Given the description of an element on the screen output the (x, y) to click on. 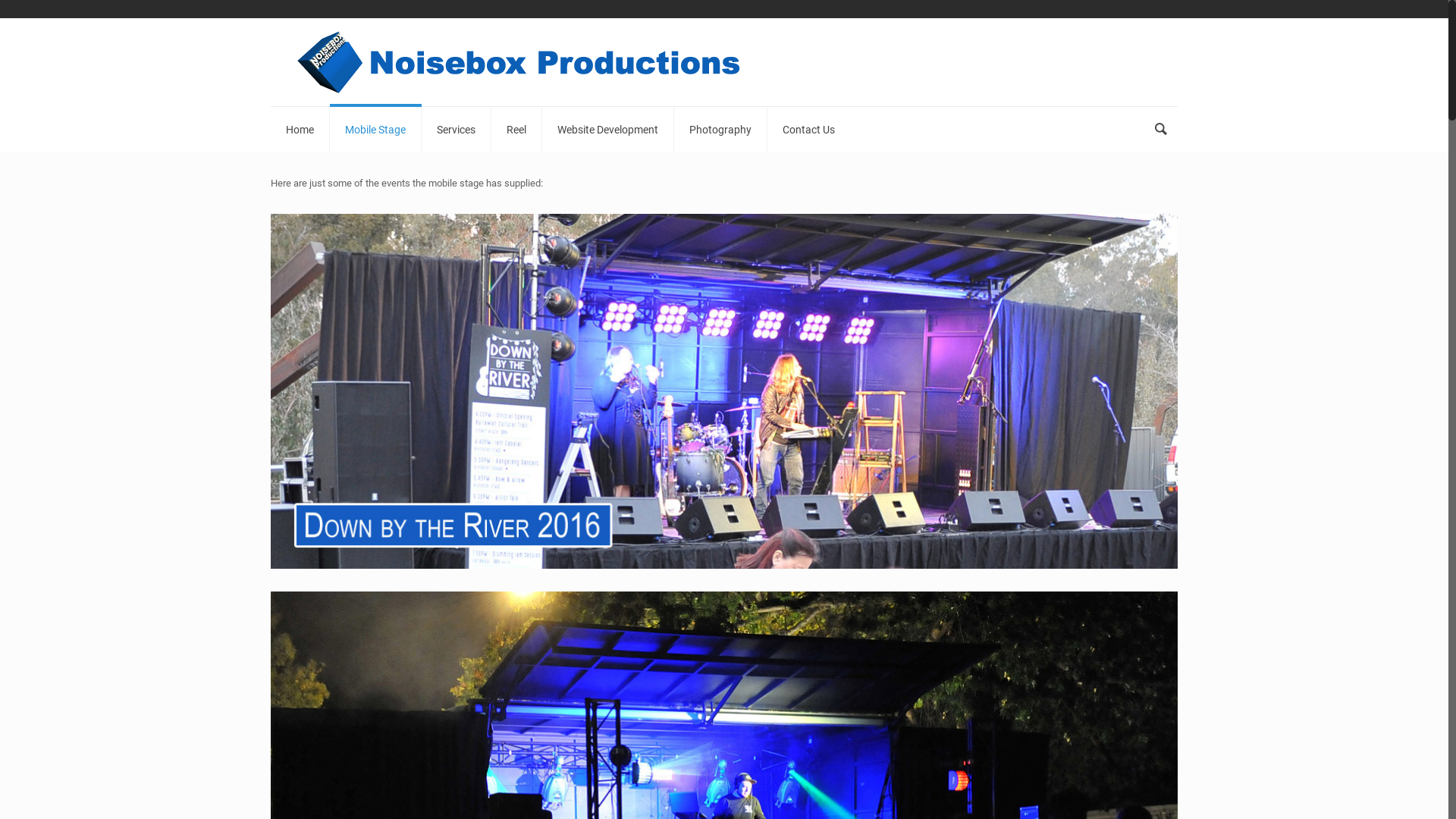
Photography Element type: text (720, 129)
Website Development Element type: text (608, 129)
Reel Element type: text (516, 129)
Services Element type: text (456, 129)
Mobile Stage Element type: text (375, 129)
Contact Us Element type: text (808, 129)
Home Element type: text (299, 129)
